Given the description of an element on the screen output the (x, y) to click on. 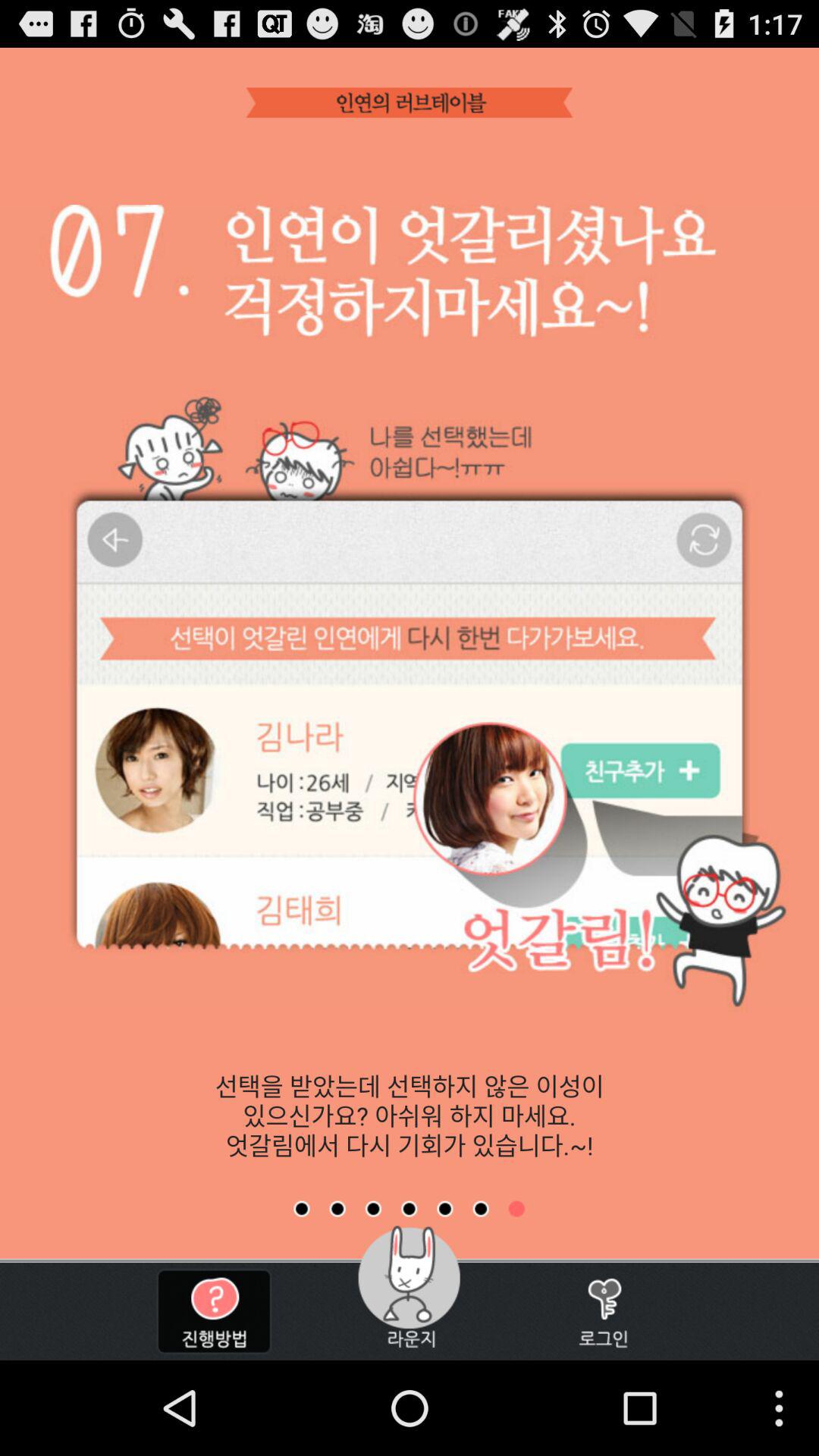
switch to tab (445, 1208)
